Given the description of an element on the screen output the (x, y) to click on. 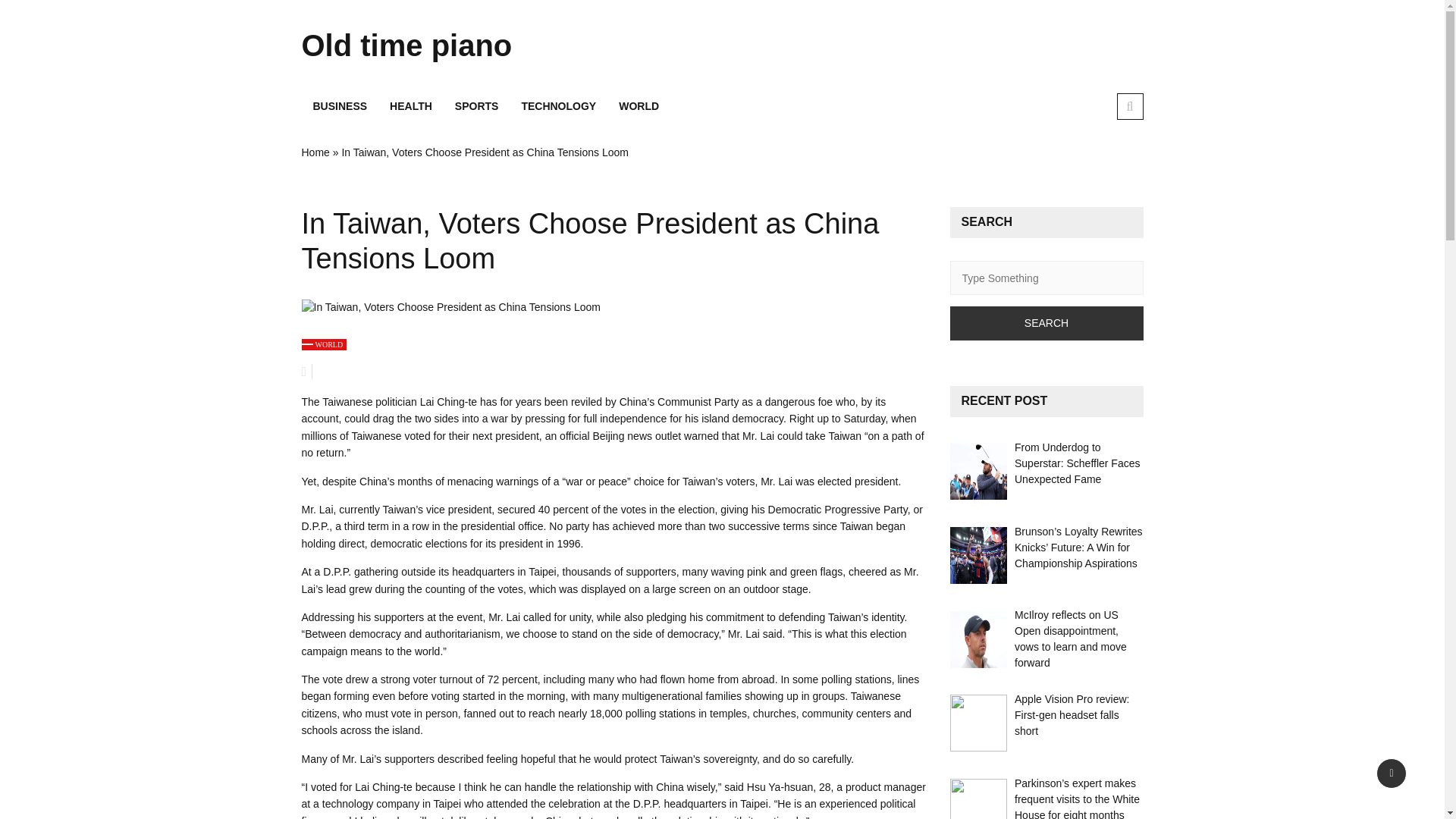
Home (315, 152)
BUSINESS (339, 106)
WORLD (324, 344)
Search (1045, 323)
Search (1045, 323)
HEALTH (411, 106)
From Underdog to Superstar: Scheffler Faces Unexpected Fame (1077, 463)
TECHNOLOGY (558, 106)
Old time piano (434, 44)
SPORTS (477, 106)
Apple Vision Pro review: First-gen headset falls short (1071, 714)
WORLD (638, 106)
